Given the description of an element on the screen output the (x, y) to click on. 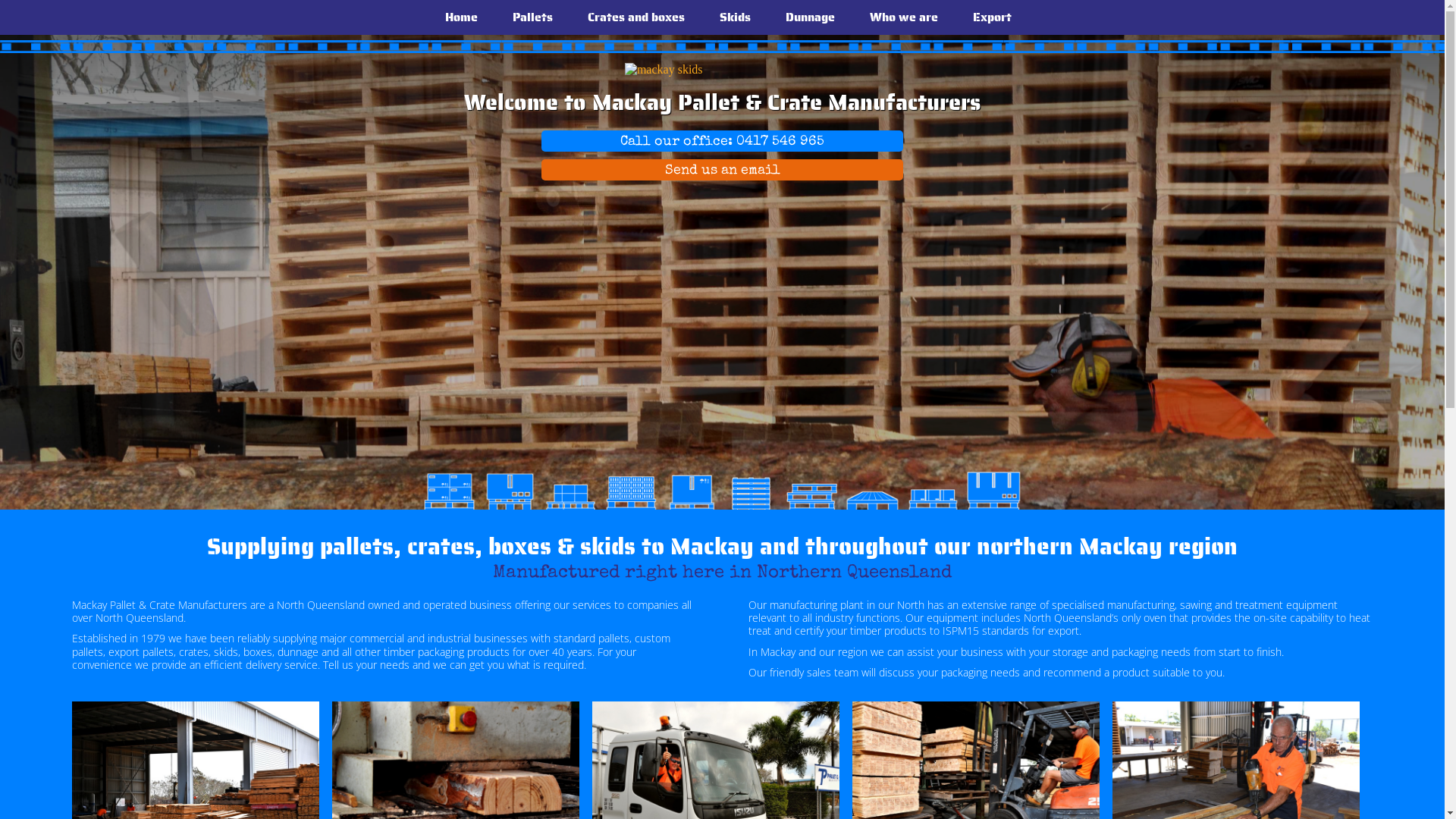
Pallets Element type: text (526, 17)
Dunnage Element type: text (804, 17)
Call our office: 0417 546 965 Element type: text (722, 141)
Crates and boxes Element type: text (630, 17)
Skids Element type: text (729, 17)
Send us an email Element type: text (721, 170)
Home Element type: text (455, 17)
Export Element type: text (985, 17)
Who we are Element type: text (897, 17)
